Given the description of an element on the screen output the (x, y) to click on. 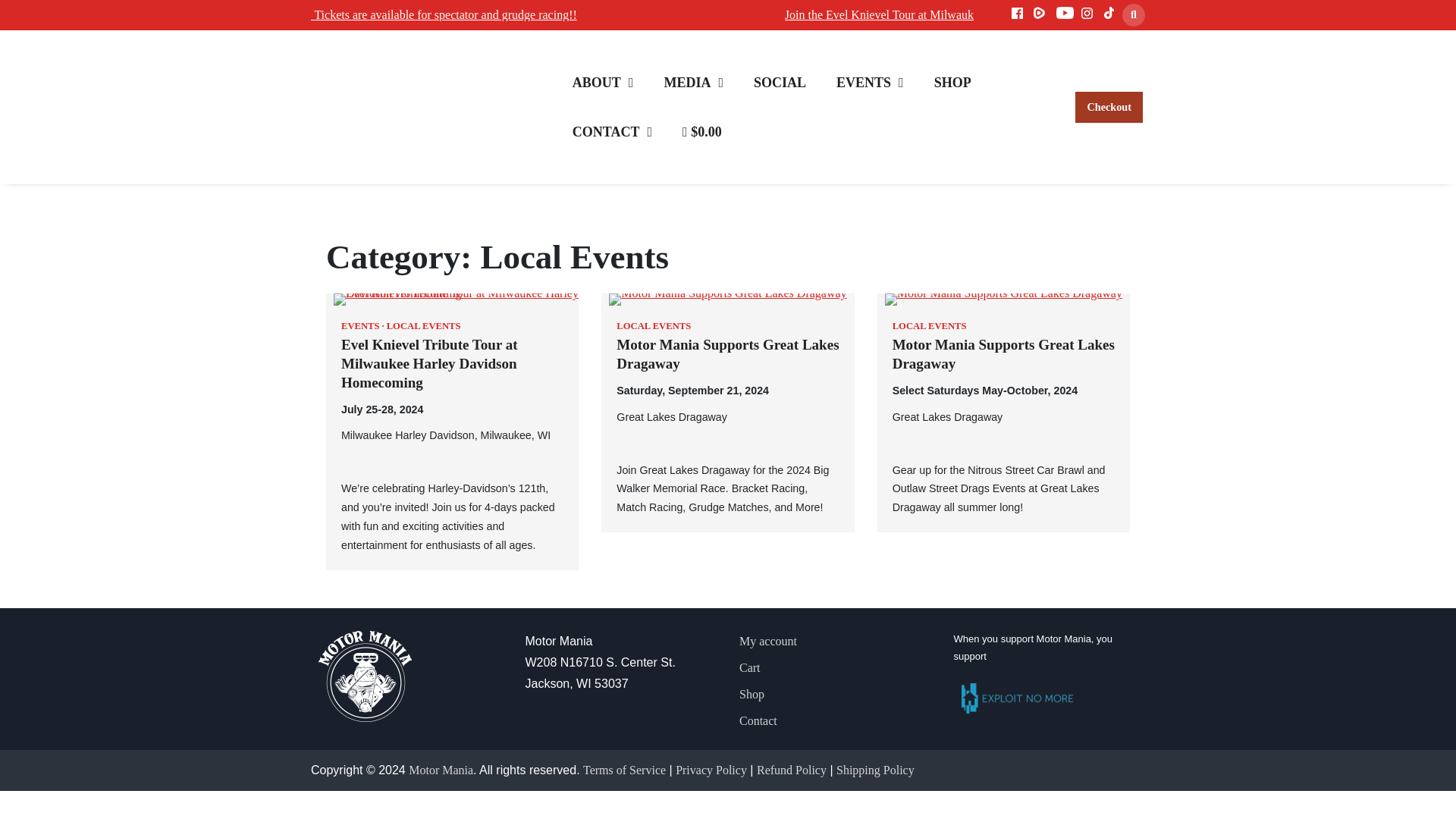
MEDIA (693, 82)
Motor Mania Supports Great Lakes Dragaway (726, 354)
Buy Now (352, 14)
Click to learn More (995, 14)
SHOP (952, 82)
EVENTS (870, 82)
CONTACT (611, 132)
Checkout (1108, 106)
Search (1133, 15)
Search (1106, 50)
LOCAL EVENTS (424, 326)
LOCAL EVENTS (652, 326)
